Given the description of an element on the screen output the (x, y) to click on. 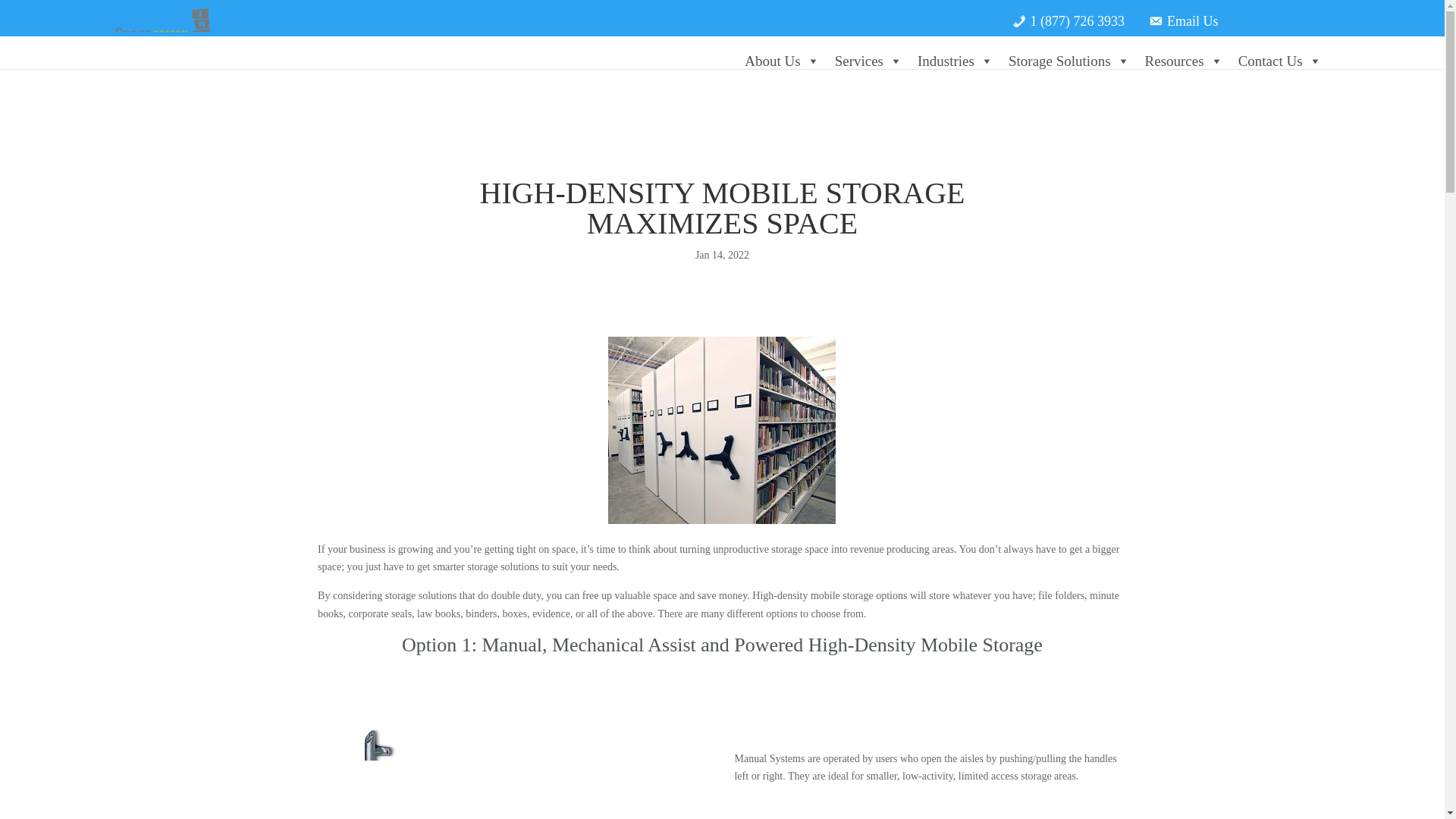
Services (868, 60)
Email Us (1183, 15)
About Us (781, 60)
Industries (955, 60)
Storage Solutions (1069, 60)
